Given the description of an element on the screen output the (x, y) to click on. 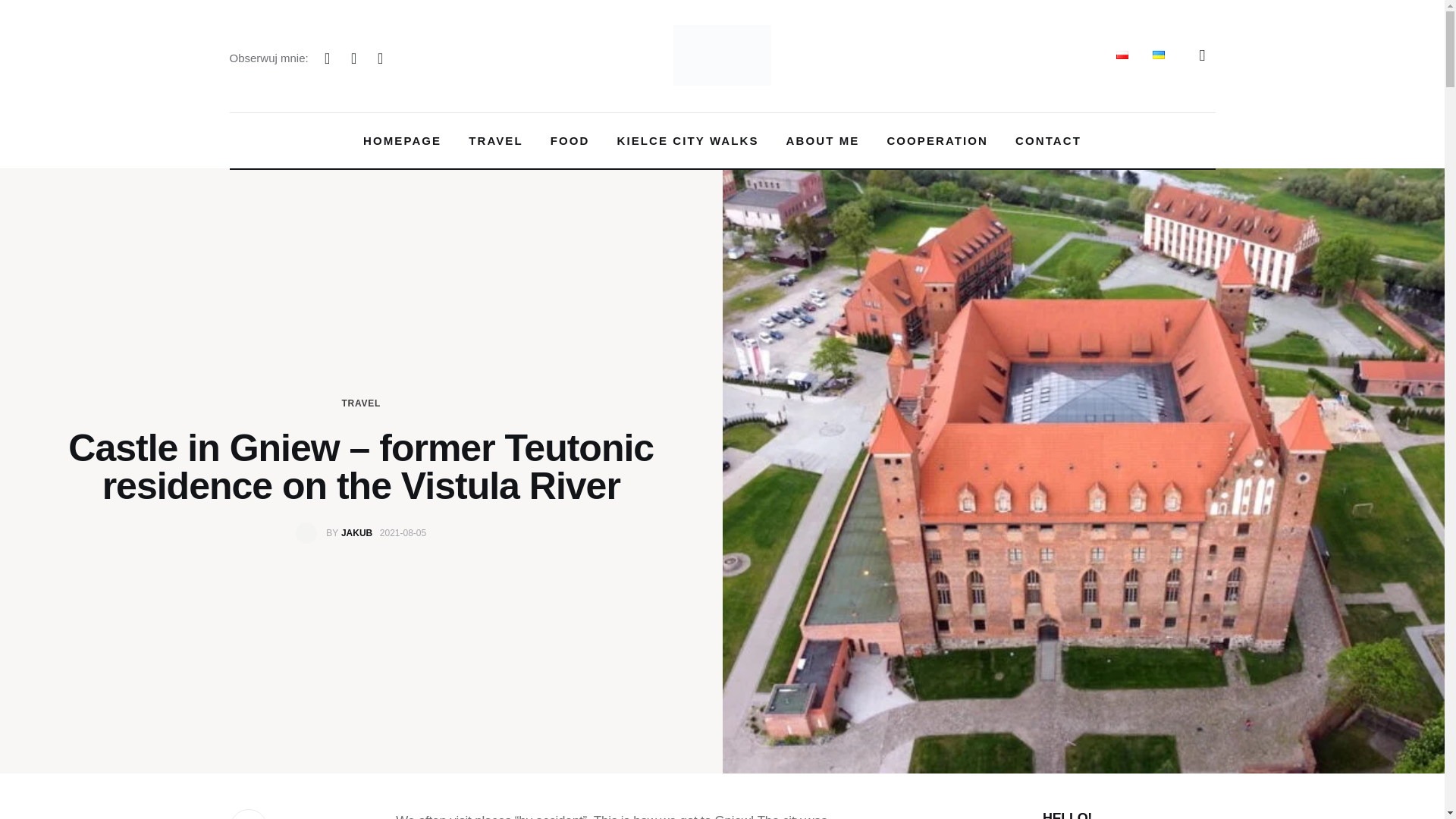
ABOUT ME (823, 141)
TRAVEL (495, 141)
COOPERATION (936, 141)
KIELCE CITY WALKS (686, 141)
CONTACT (1047, 141)
FOOD (570, 141)
HOMEPAGE (401, 141)
